Given the description of an element on the screen output the (x, y) to click on. 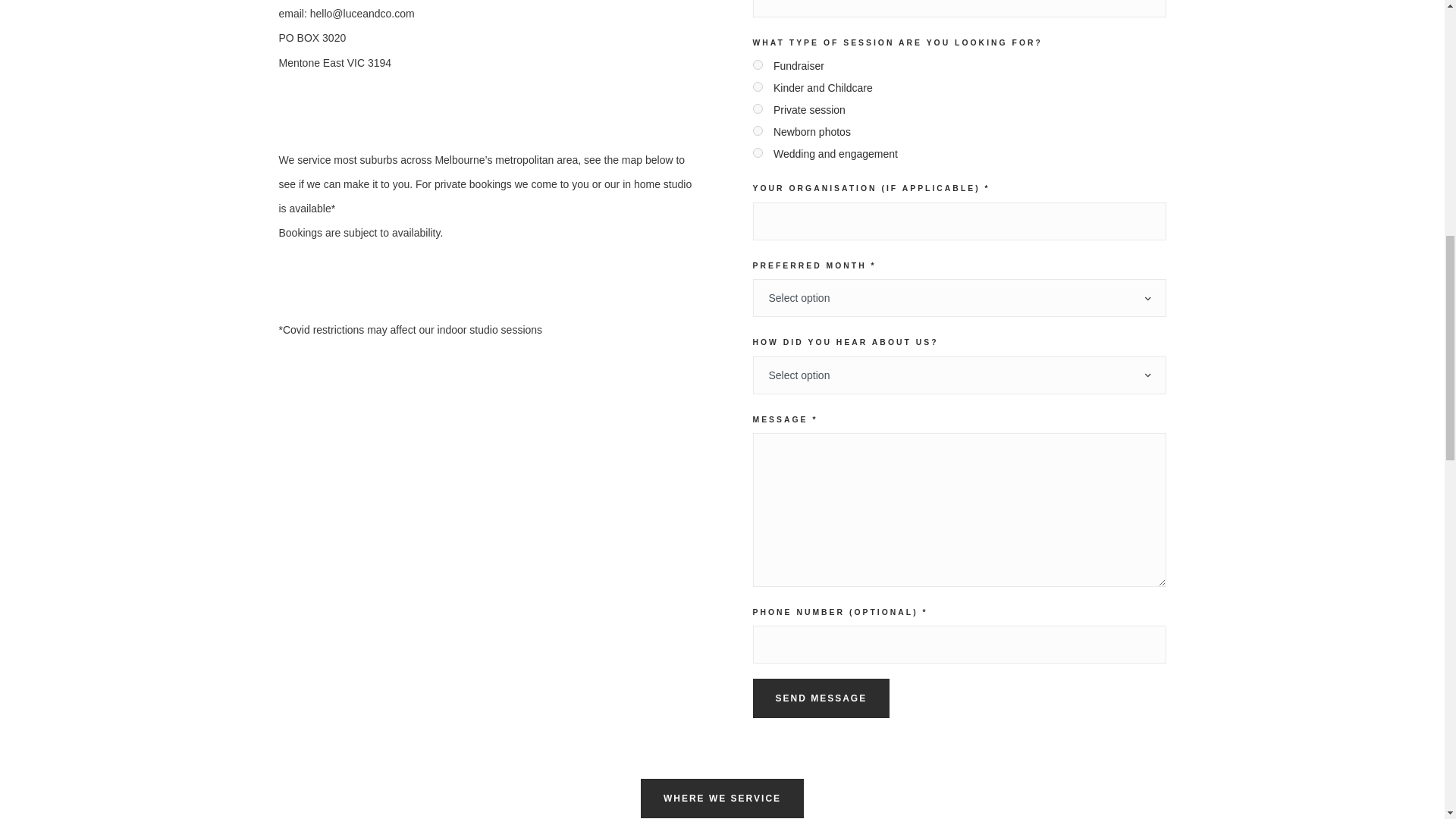
Kinder and Childcare (756, 86)
Private session (756, 108)
Newborn photos (756, 130)
Fundraiser (756, 64)
Wedding and engagement (756, 153)
